Given the description of an element on the screen output the (x, y) to click on. 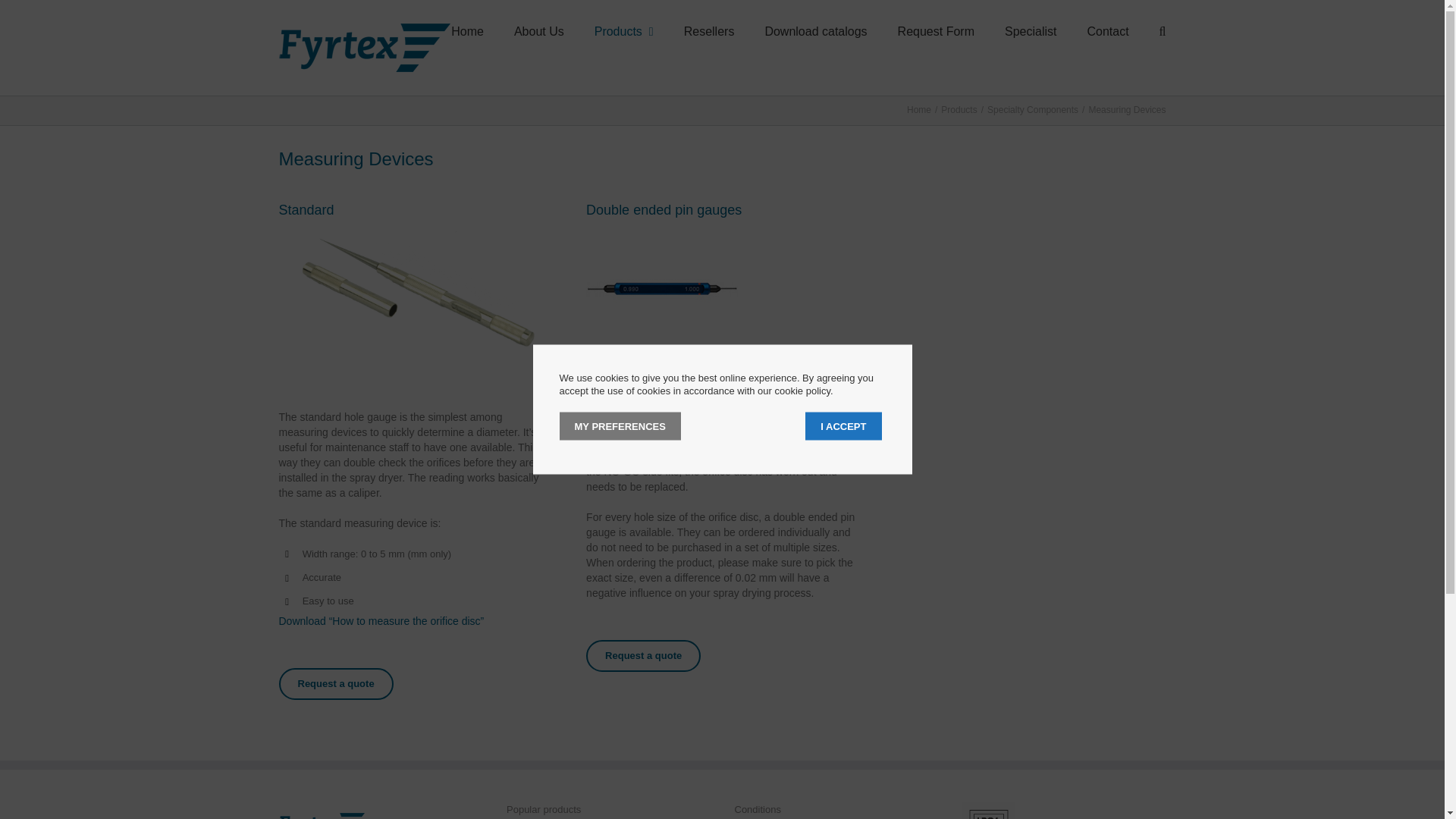
Request Form (936, 31)
Double-ended-pin-gauge-fyrtex-spray-dry-nozzels (662, 288)
Products (623, 31)
Download catalogs (815, 31)
